Given the description of an element on the screen output the (x, y) to click on. 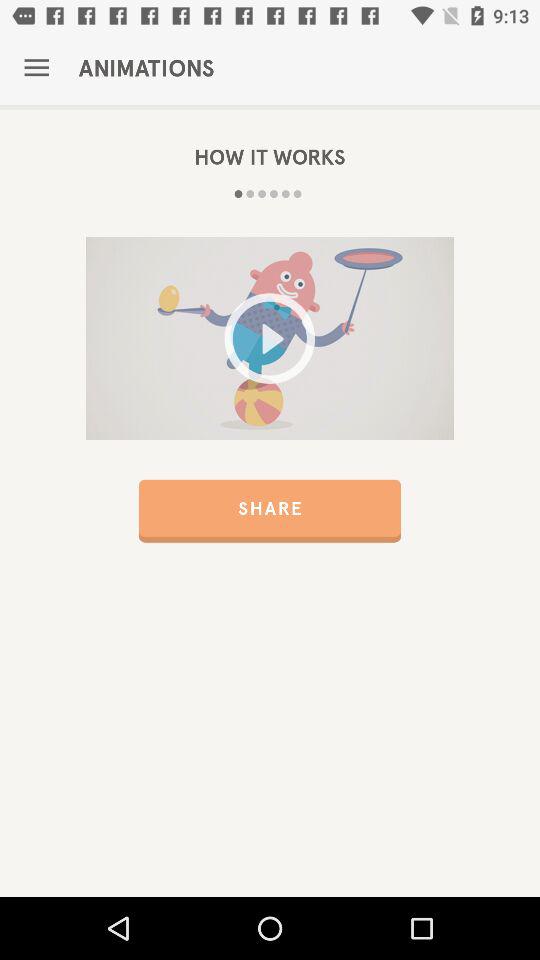
click play button (269, 338)
